Given the description of an element on the screen output the (x, y) to click on. 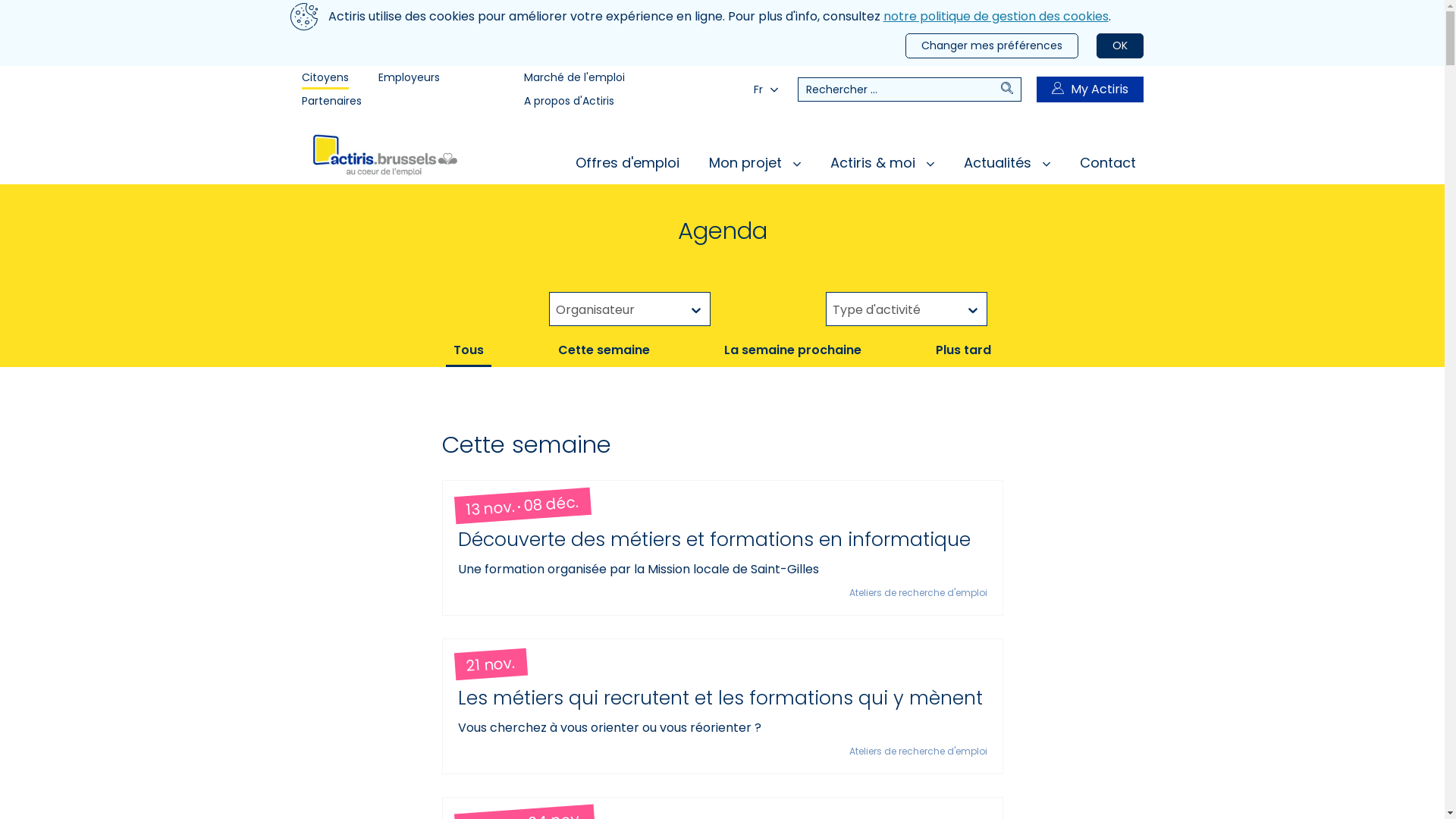
Tous Element type: text (468, 350)
notre politique de gestion des cookies Element type: text (994, 16)
Citoyens Element type: text (325, 77)
Cette semaine Element type: text (603, 350)
Offres d'emploi Element type: text (626, 162)
Contact Element type: text (1107, 162)
Rechercher Element type: hover (899, 89)
Aller au contenu principal Element type: text (0, 0)
OK Element type: text (1119, 45)
My Actiris Element type: text (1088, 89)
Employeurs Element type: text (408, 77)
Mon projet Element type: text (753, 162)
A propos d'Actiris Element type: text (568, 100)
Partenaires Element type: text (331, 100)
Actiris & moi Element type: text (881, 162)
Fr Element type: text (765, 89)
Rechercher Element type: text (1010, 89)
La semaine prochaine Element type: text (792, 350)
Plus tard Element type: text (963, 350)
